Given the description of an element on the screen output the (x, y) to click on. 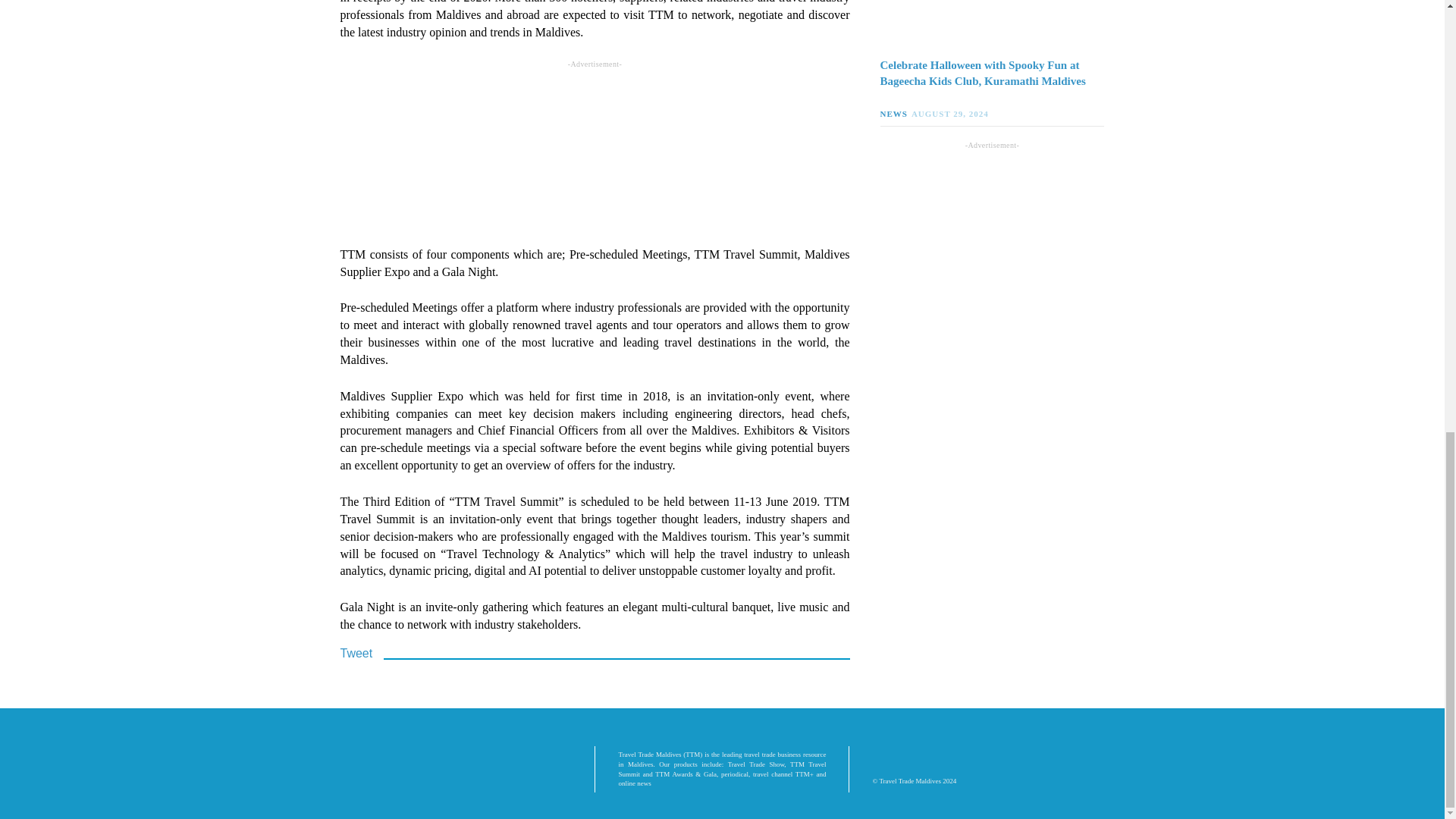
NEWS (895, 112)
Tweet (355, 653)
